Given the description of an element on the screen output the (x, y) to click on. 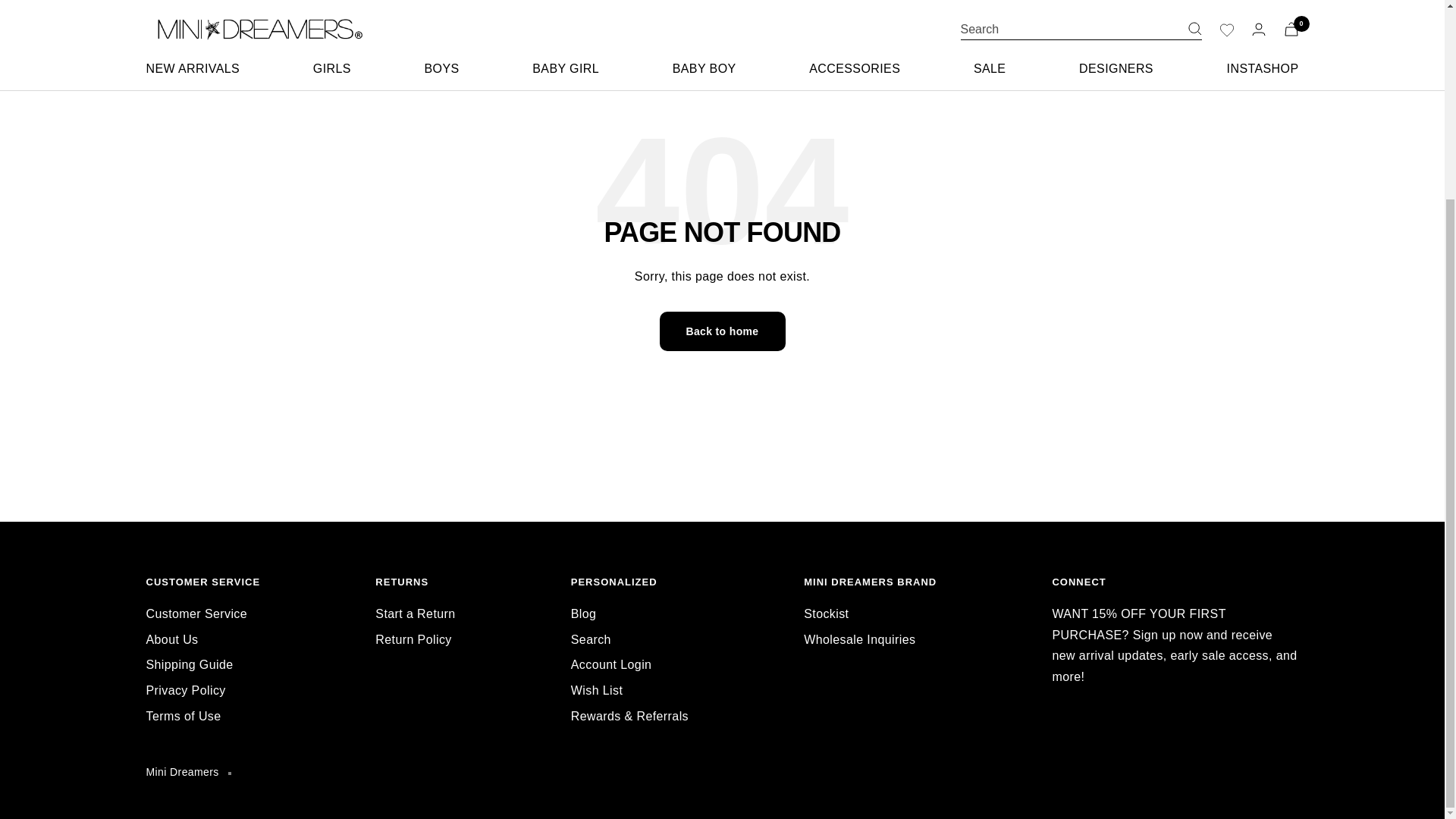
INSTASHOP (1262, 25)
BOYS (442, 25)
NEW ARRIVALS (192, 25)
GIRLS (331, 25)
Return Policy (413, 639)
Back to home (722, 331)
BABY GIRL (565, 25)
Wish List (596, 690)
Customer Service (196, 613)
Wholesale Inquiries (859, 639)
